Given the description of an element on the screen output the (x, y) to click on. 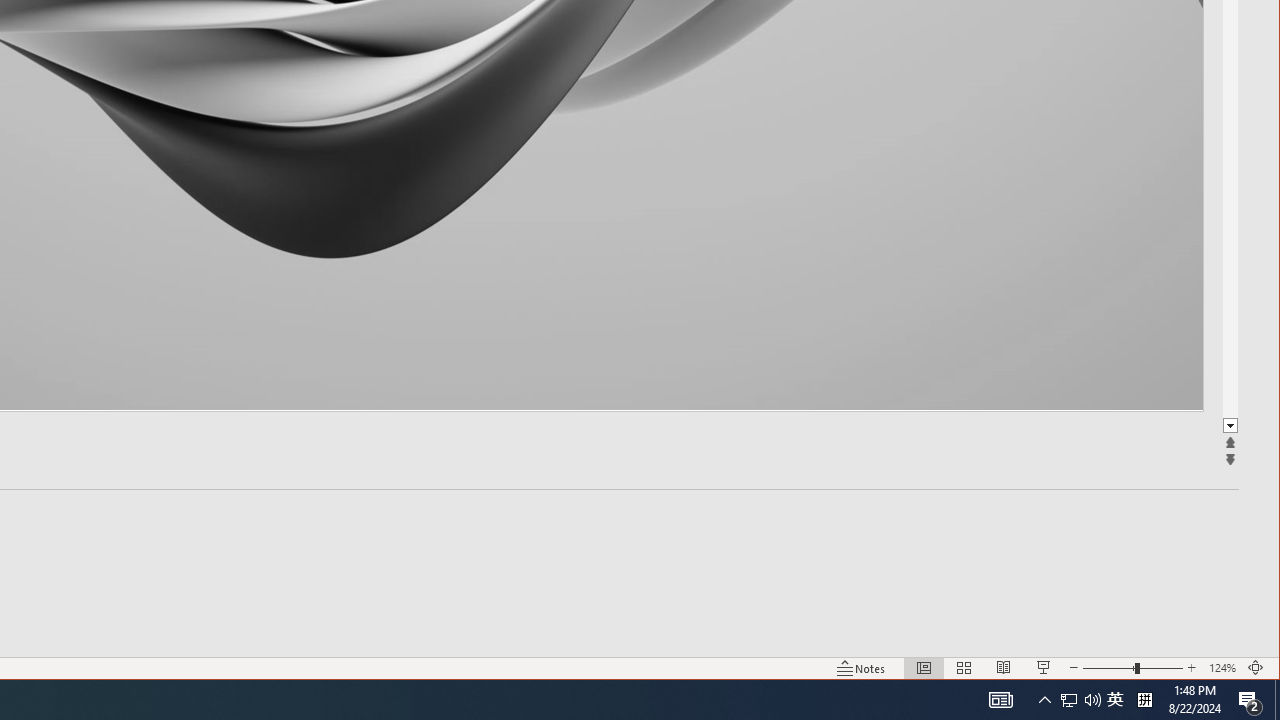
Zoom 124% (1222, 668)
